Given the description of an element on the screen output the (x, y) to click on. 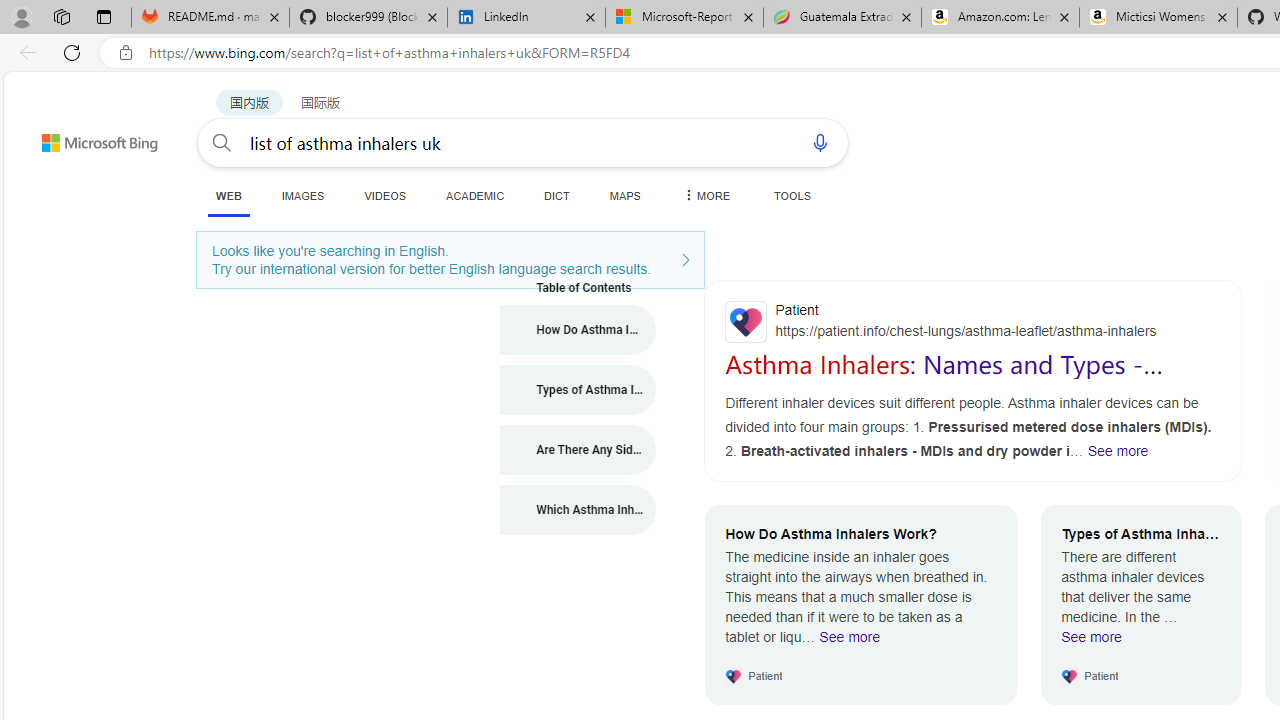
MAPS (624, 195)
TOOLS (792, 195)
Types of Asthma Inhalers (578, 389)
